Given the description of an element on the screen output the (x, y) to click on. 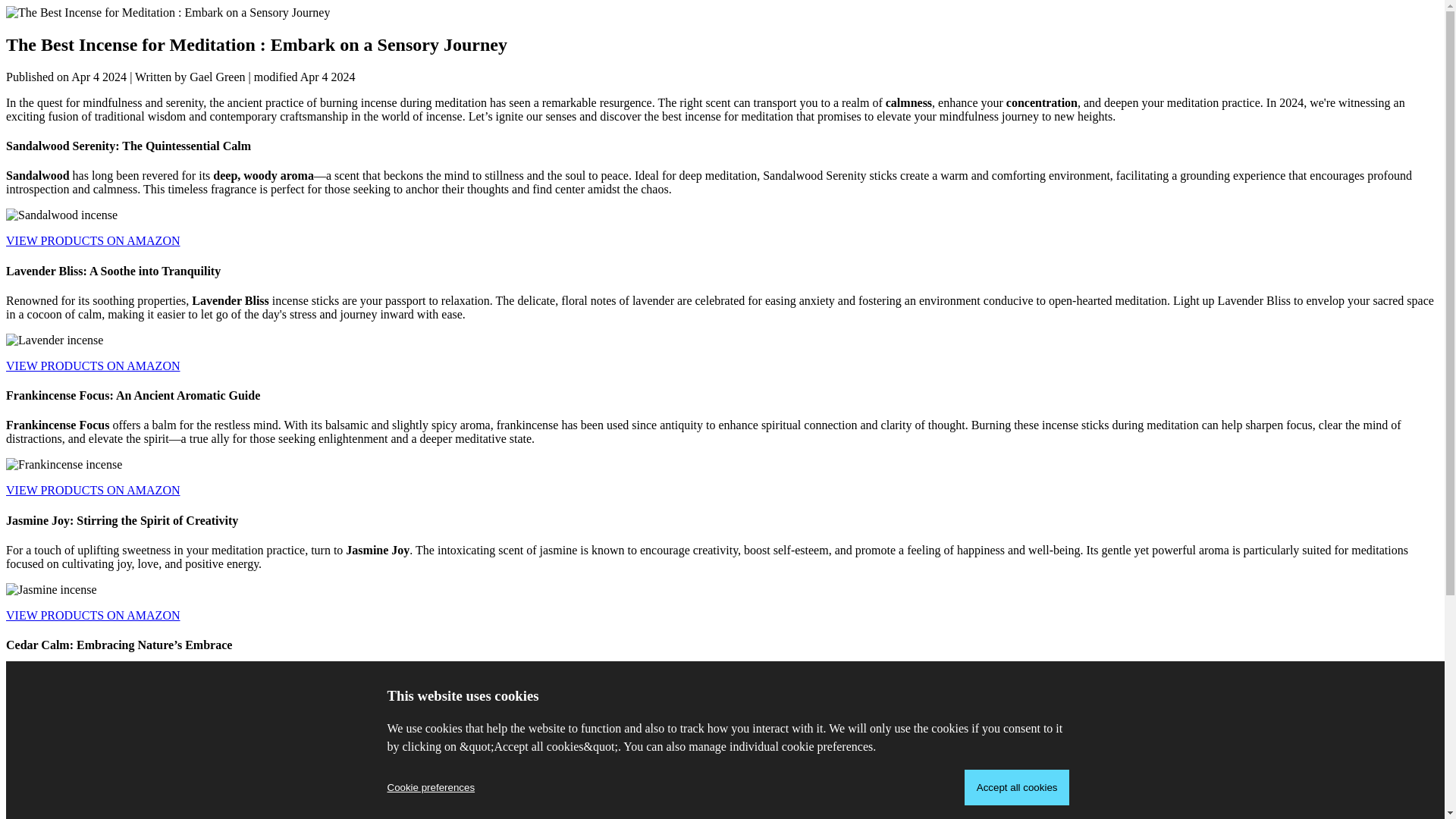
VIEW PRODUCTS ON AMAZON (92, 615)
Cookie preferences (430, 787)
VIEW PRODUCTS ON AMAZON (92, 739)
VIEW PRODUCTS ON AMAZON (92, 365)
VIEW PRODUCTS ON AMAZON (92, 240)
VIEW PRODUCTS ON AMAZON (92, 490)
Accept all cookies (1016, 787)
